Given the description of an element on the screen output the (x, y) to click on. 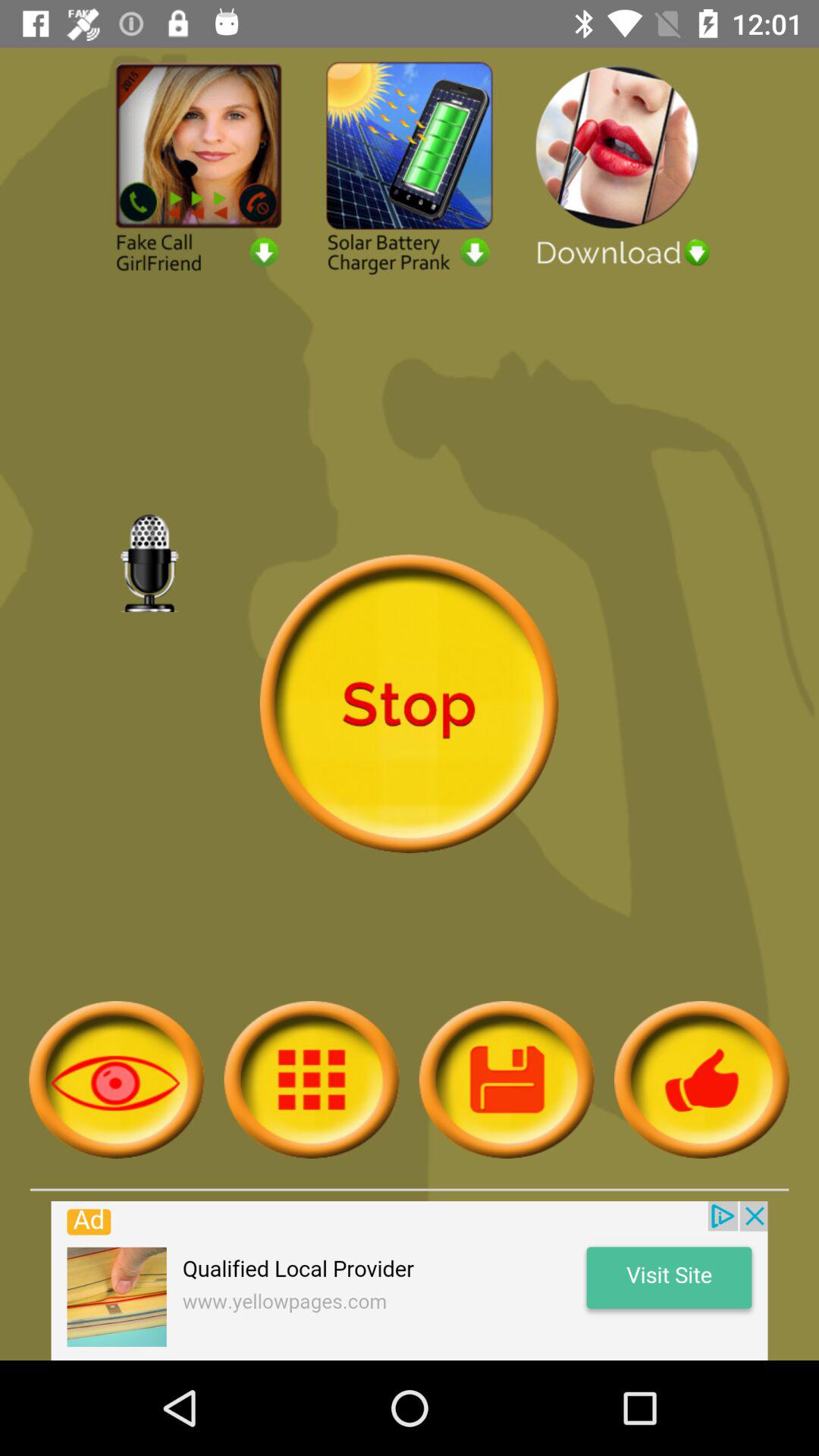
stop the recording (408, 703)
